Given the description of an element on the screen output the (x, y) to click on. 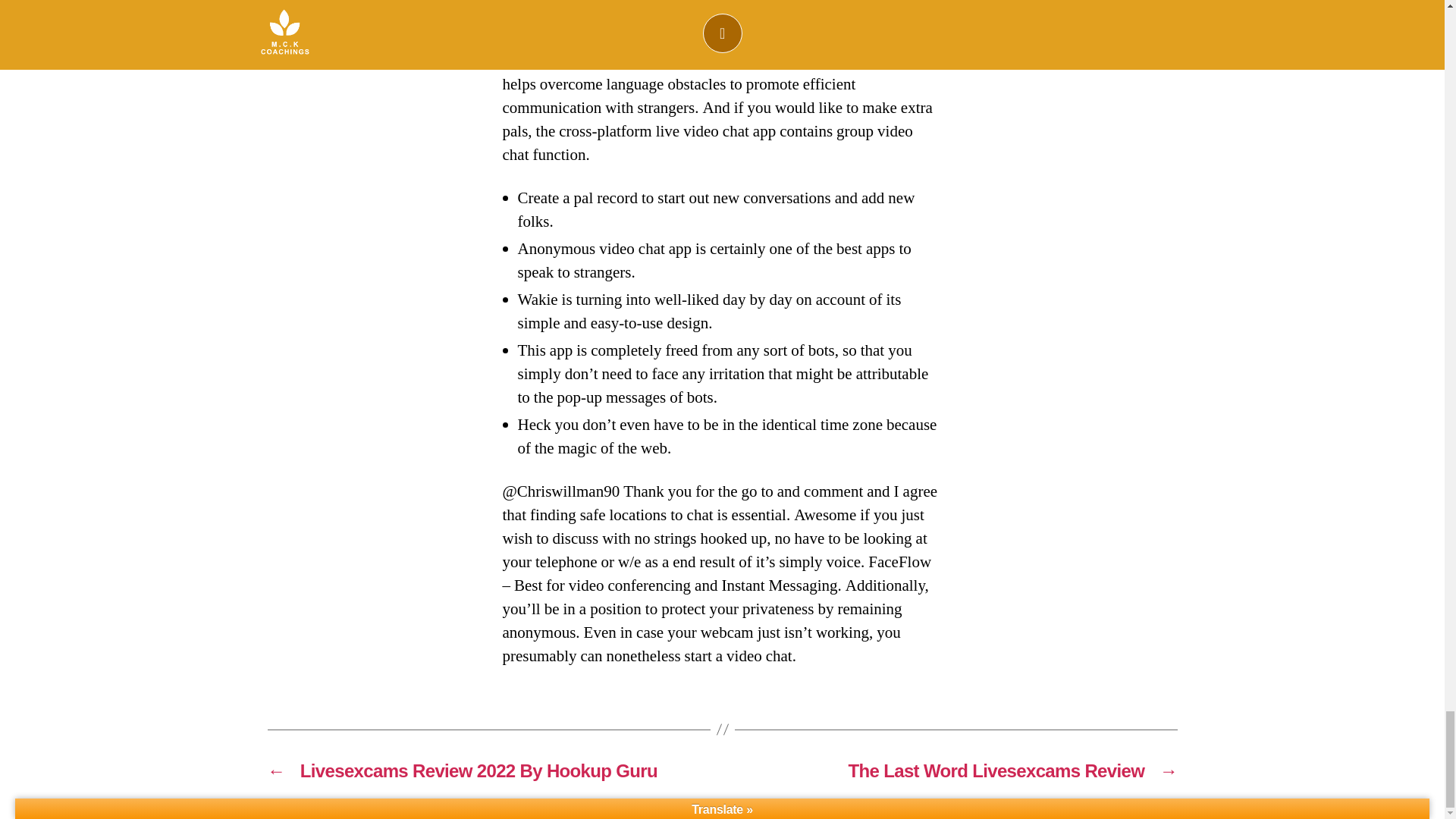
chatride (754, 37)
